Given the description of an element on the screen output the (x, y) to click on. 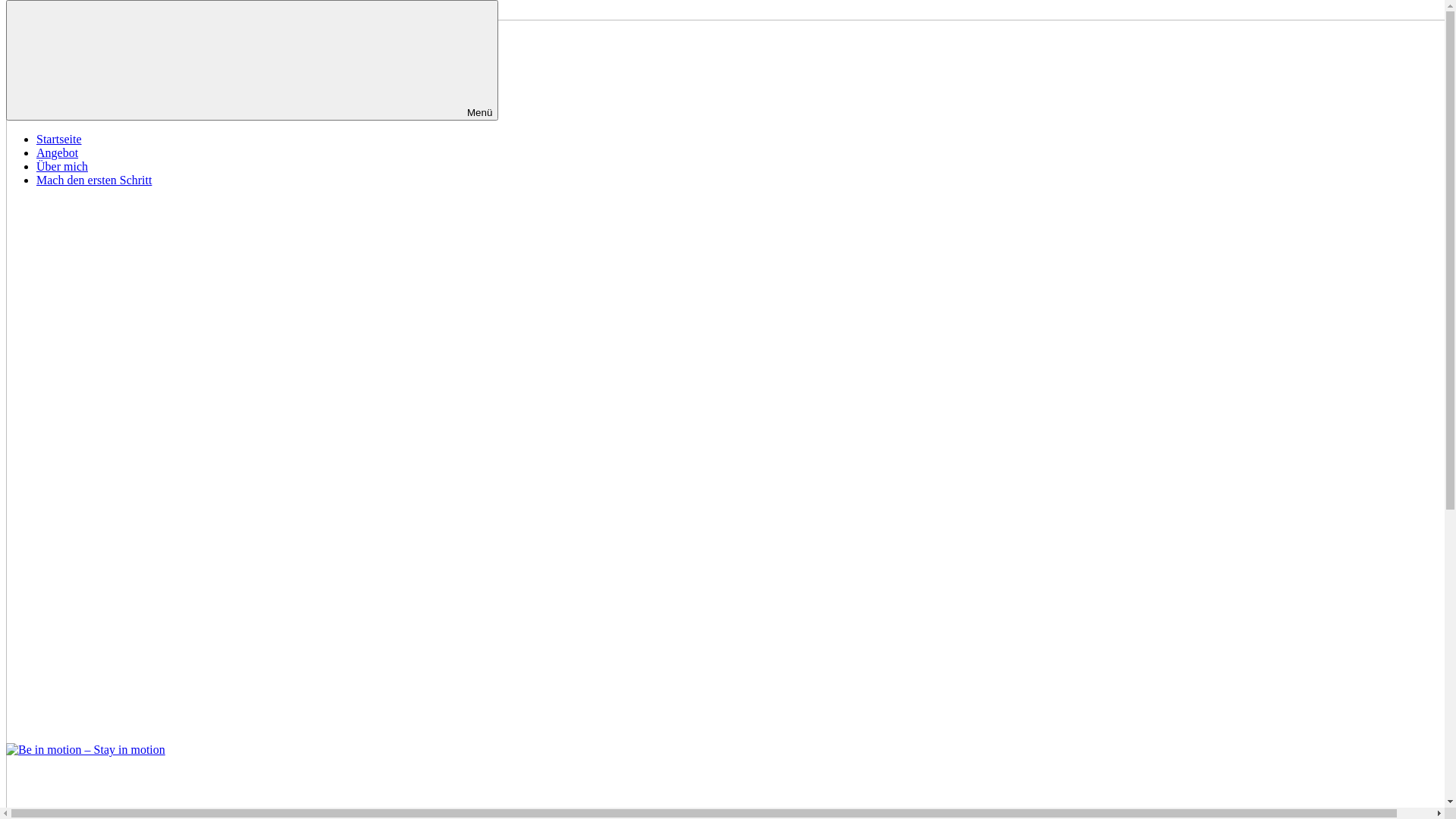
Angebot Element type: text (57, 152)
Zum Inhalt springen Element type: text (55, 12)
Mach den ersten Schritt Element type: text (93, 179)
Startseite Element type: text (58, 138)
